Given the description of an element on the screen output the (x, y) to click on. 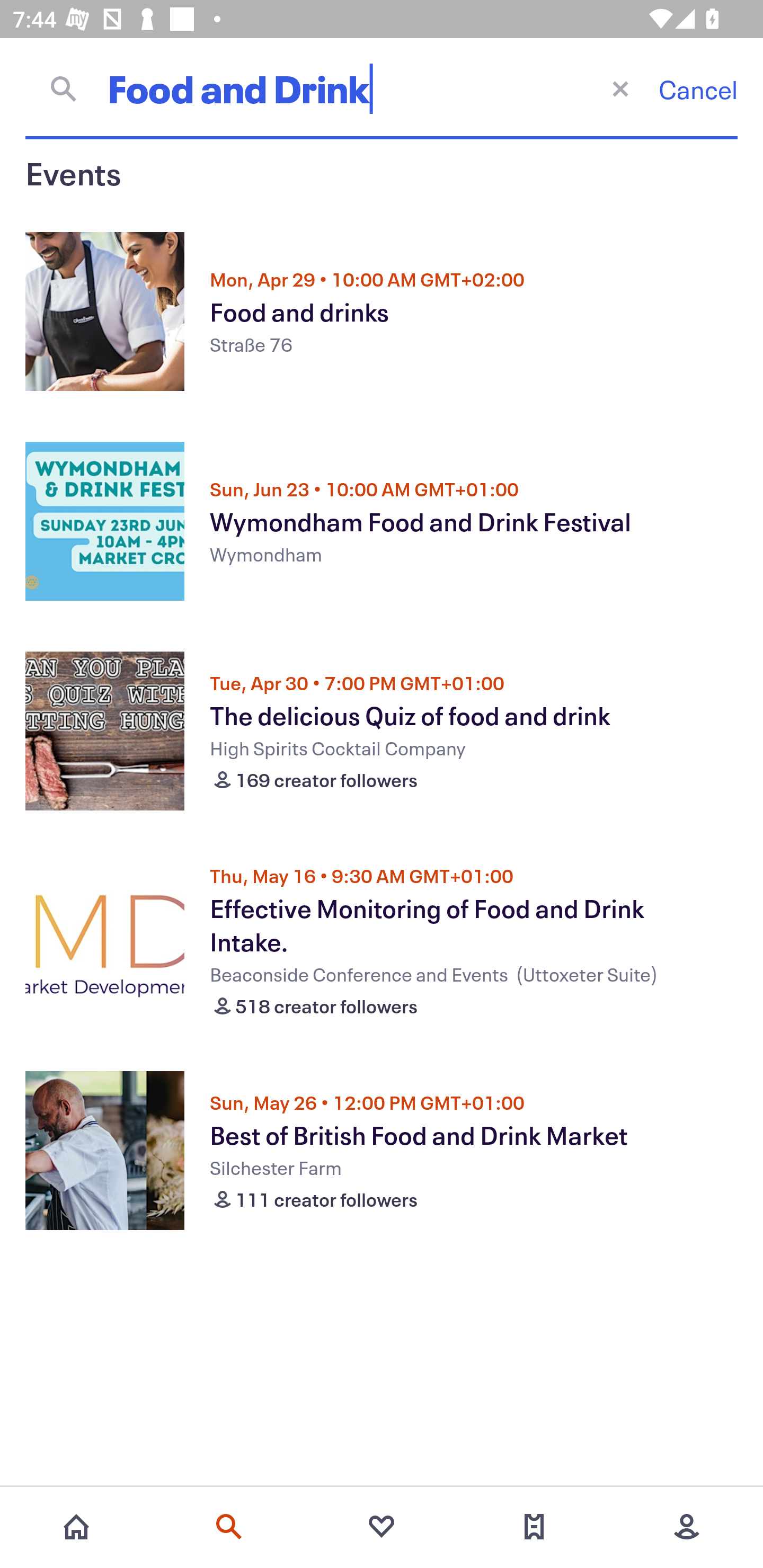
Food and Drink Close current screen Cancel (381, 88)
Close current screen (620, 88)
Cancel (697, 89)
Home (76, 1526)
Search events (228, 1526)
Favorites (381, 1526)
Tickets (533, 1526)
More (686, 1526)
